Given the description of an element on the screen output the (x, y) to click on. 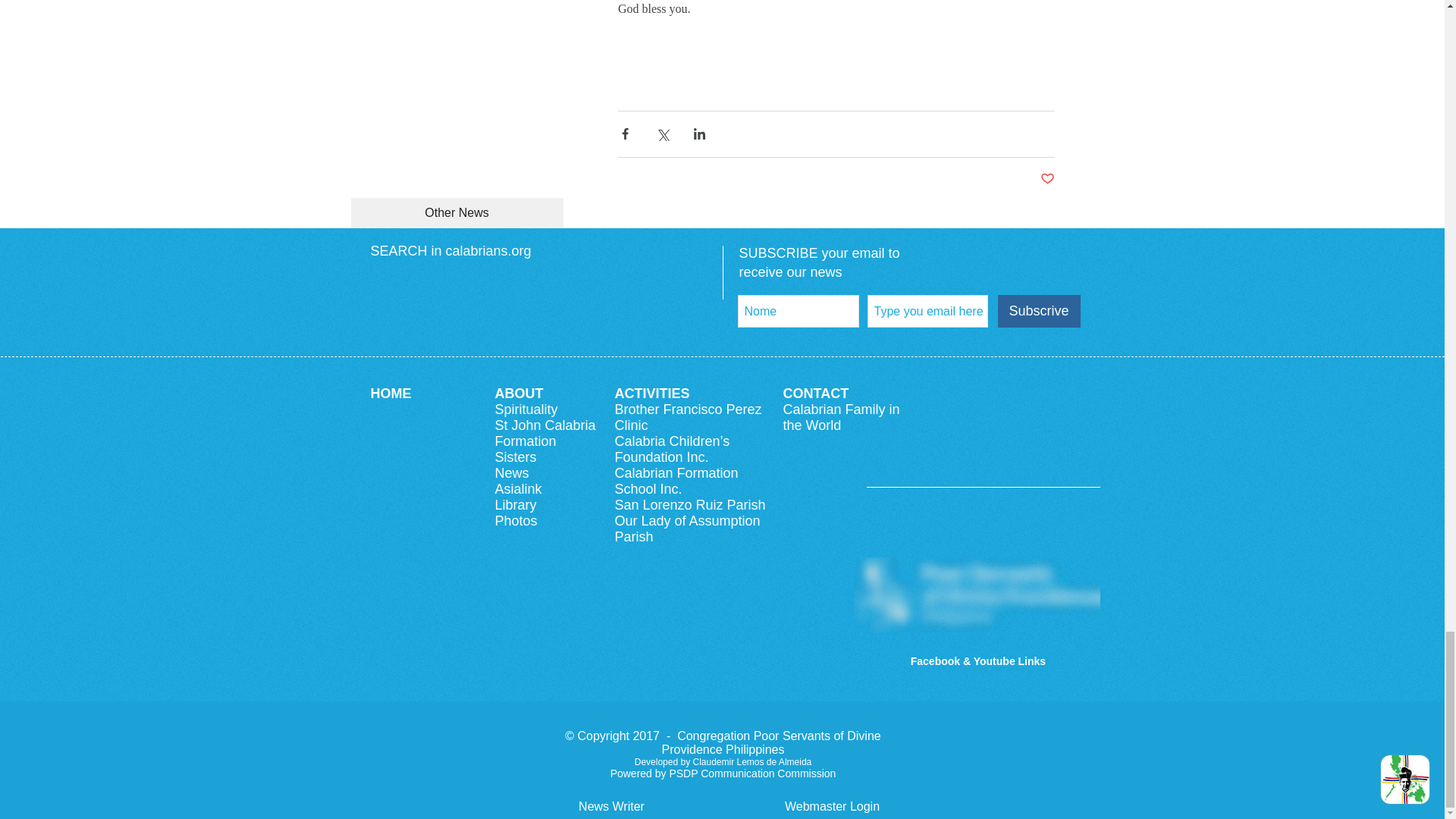
Asialink (518, 488)
Sisters (515, 457)
HOME (389, 393)
Other News (456, 213)
Spirituality (526, 409)
ABOUT (519, 393)
Site Search (534, 288)
News (511, 473)
St John Calabria (545, 425)
Subscrive (1038, 310)
